Given the description of an element on the screen output the (x, y) to click on. 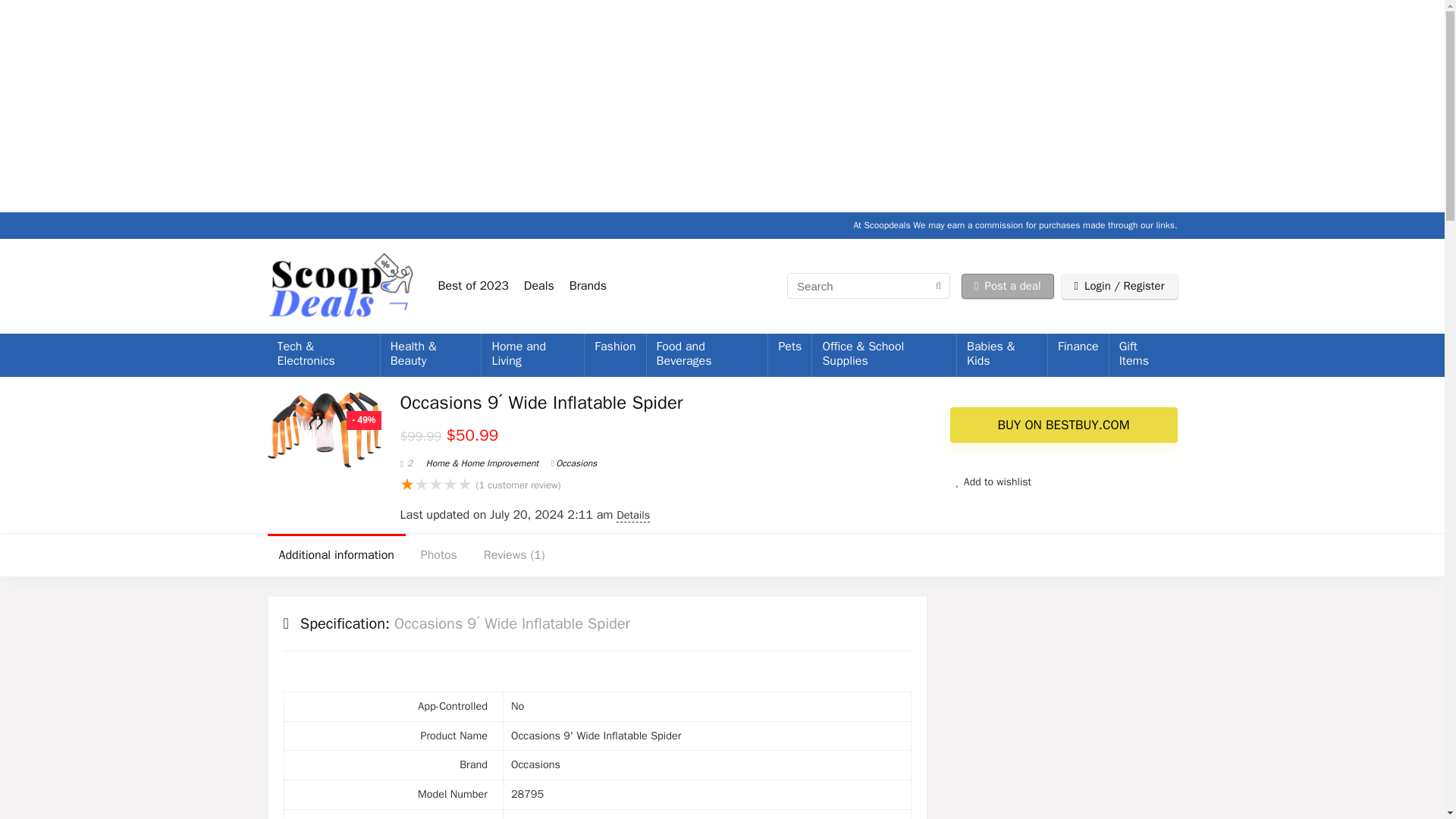
Brands (588, 285)
Pets (789, 347)
Occasions (573, 463)
Additional information (335, 554)
Food and Beverages (707, 354)
BUY ON BESTBUY.COM (1062, 425)
Gift Items (1143, 354)
Deals (539, 285)
Rated 1 out of 5 (435, 484)
Finance (1078, 347)
Photos (438, 554)
Home and Living (532, 354)
Post a deal (1006, 285)
Best of 2023 (473, 285)
